Given the description of an element on the screen output the (x, y) to click on. 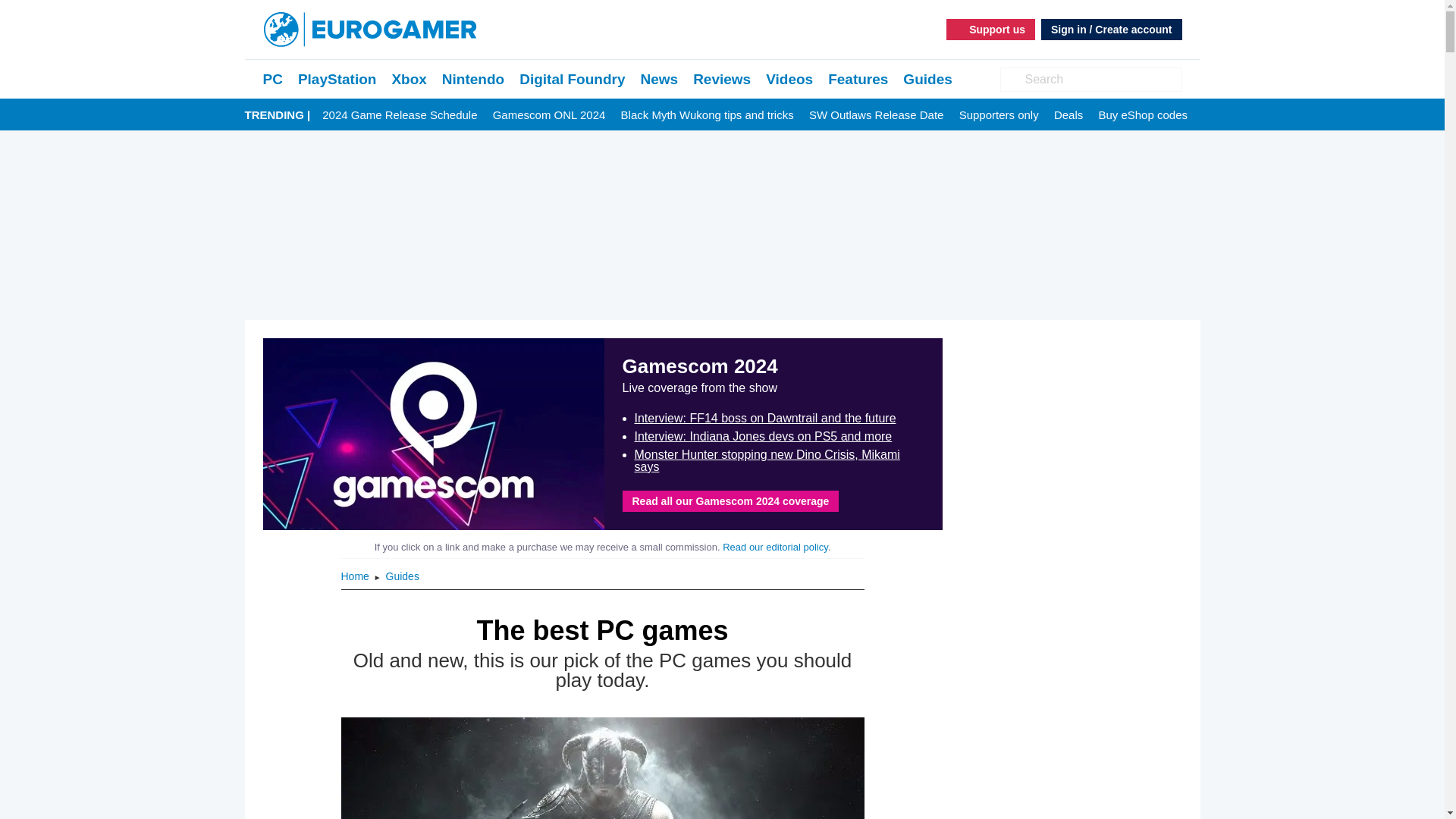
2024 Game Release Schedule (399, 114)
Interview: FF14 boss on Dawntrail and the future (764, 418)
Home (356, 576)
Buy eShop codes (1142, 114)
Guides (927, 78)
Read our editorial policy (775, 546)
PlayStation (336, 78)
Reviews (722, 78)
News (659, 78)
Home (356, 576)
